Given the description of an element on the screen output the (x, y) to click on. 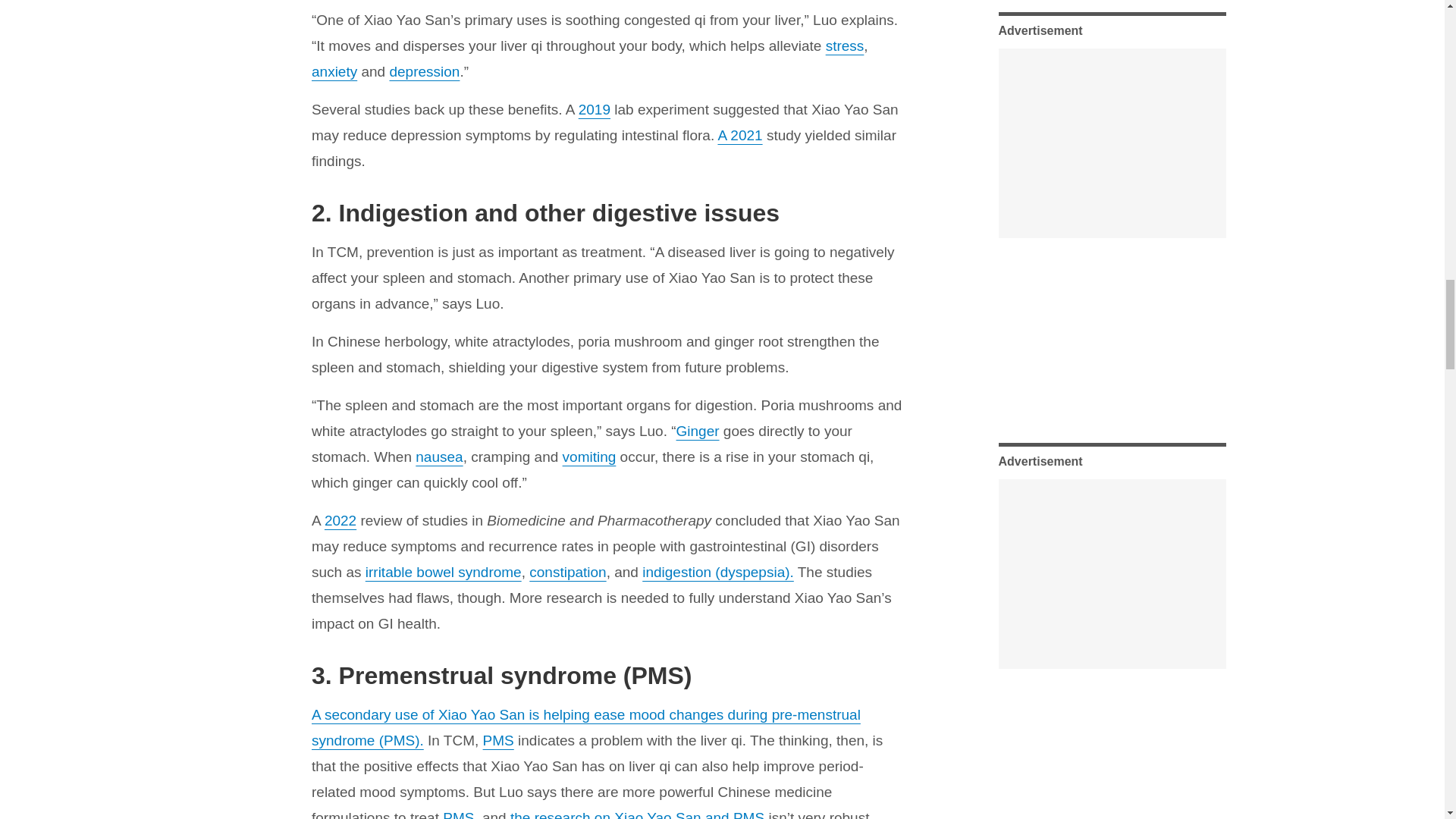
2019 (594, 109)
irritable bowel syndrome (443, 571)
Ginger (698, 430)
stress (844, 45)
constipation (567, 571)
nausea (438, 456)
depression (424, 71)
anxiety (333, 71)
vomiting (588, 456)
A 2021 (739, 135)
2022 (340, 520)
